Given the description of an element on the screen output the (x, y) to click on. 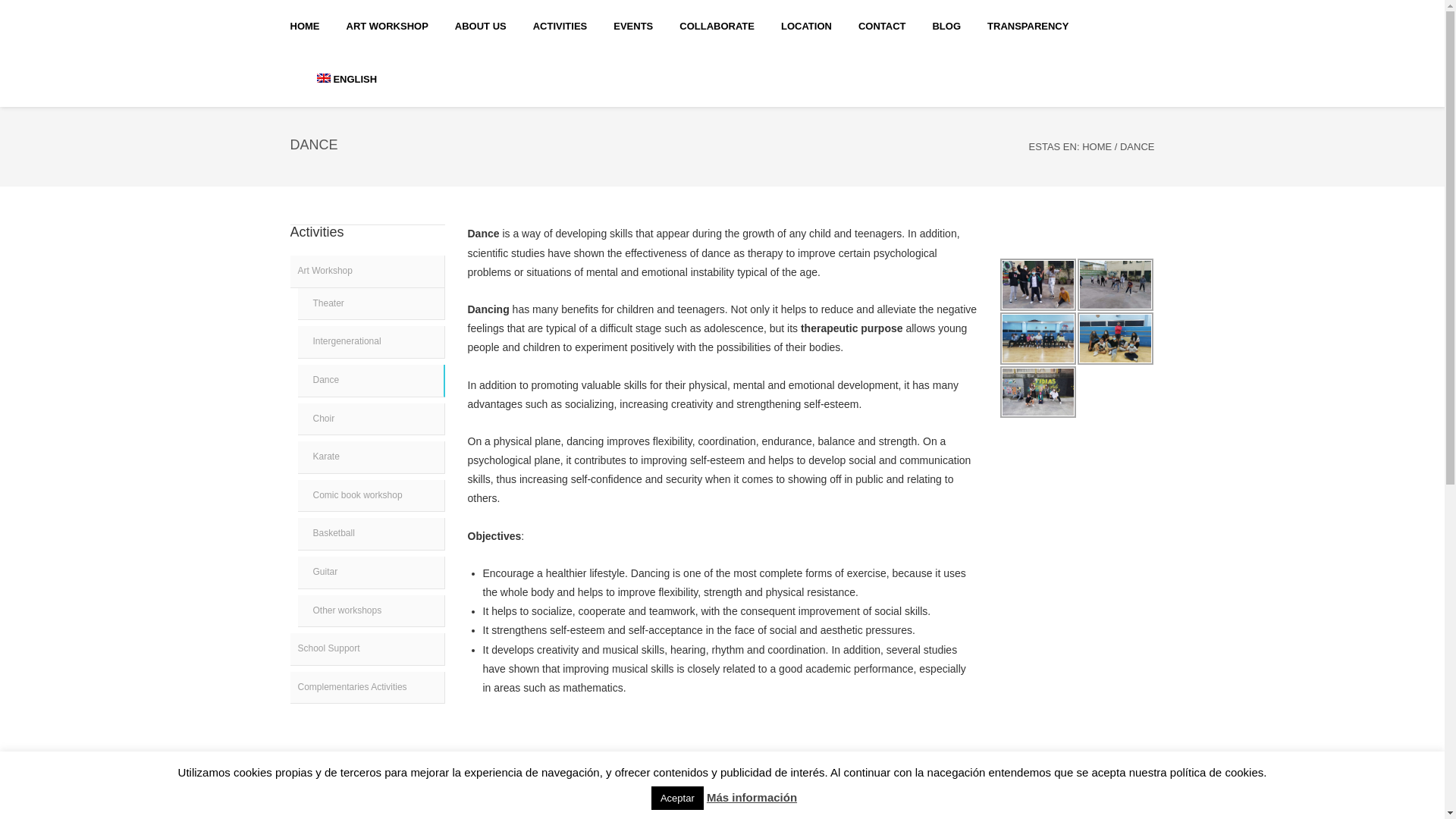
ART WORKSHOP (387, 26)
English (323, 77)
COLLABORATE (716, 26)
ABOUT US (480, 26)
ACTIVITIES (560, 26)
ENGLISH (347, 79)
English (347, 79)
LOCATION (805, 26)
CONTACT (882, 26)
TRANSPARENCY (1027, 26)
